Given the description of an element on the screen output the (x, y) to click on. 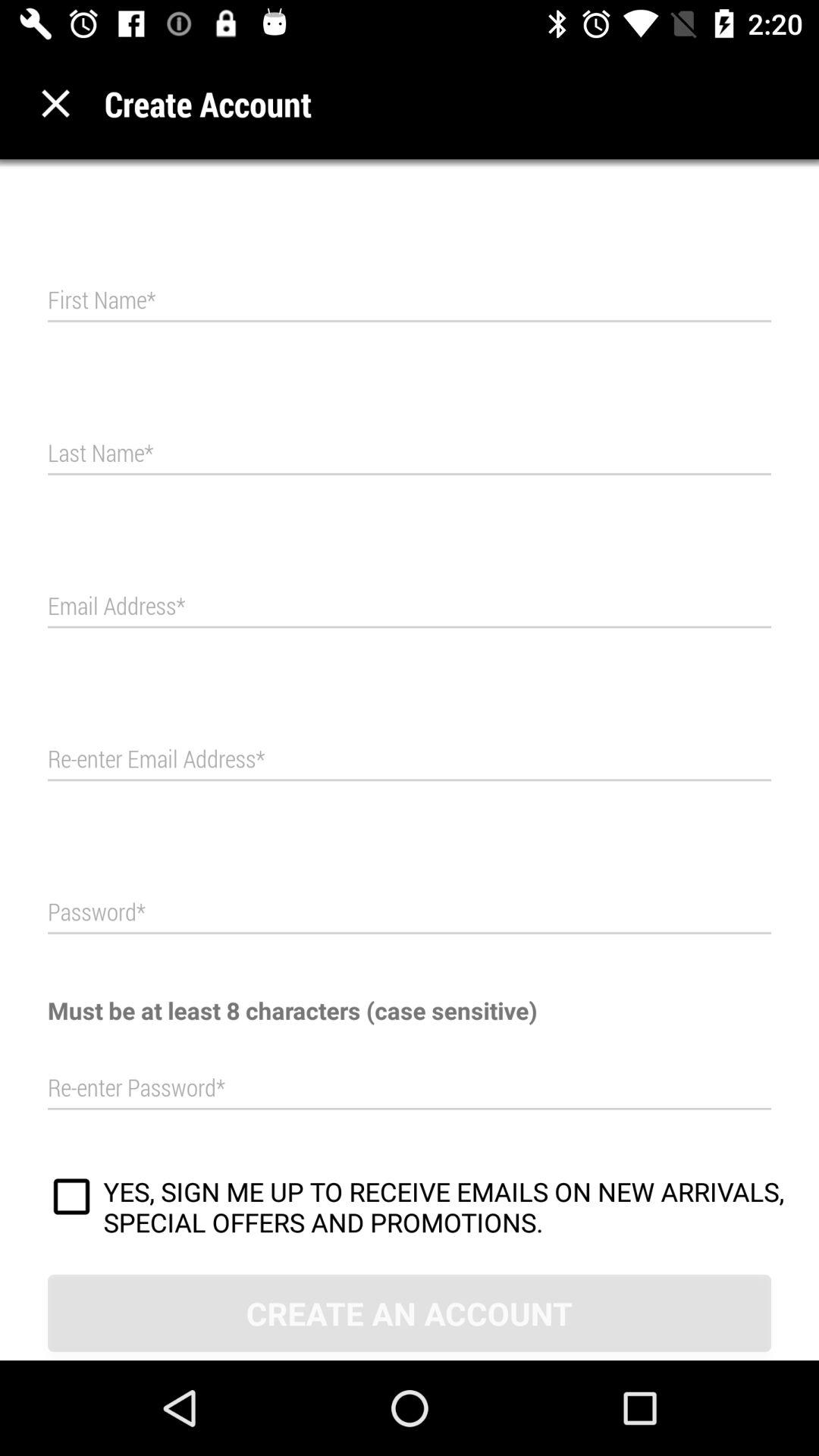
enter info (409, 759)
